Given the description of an element on the screen output the (x, y) to click on. 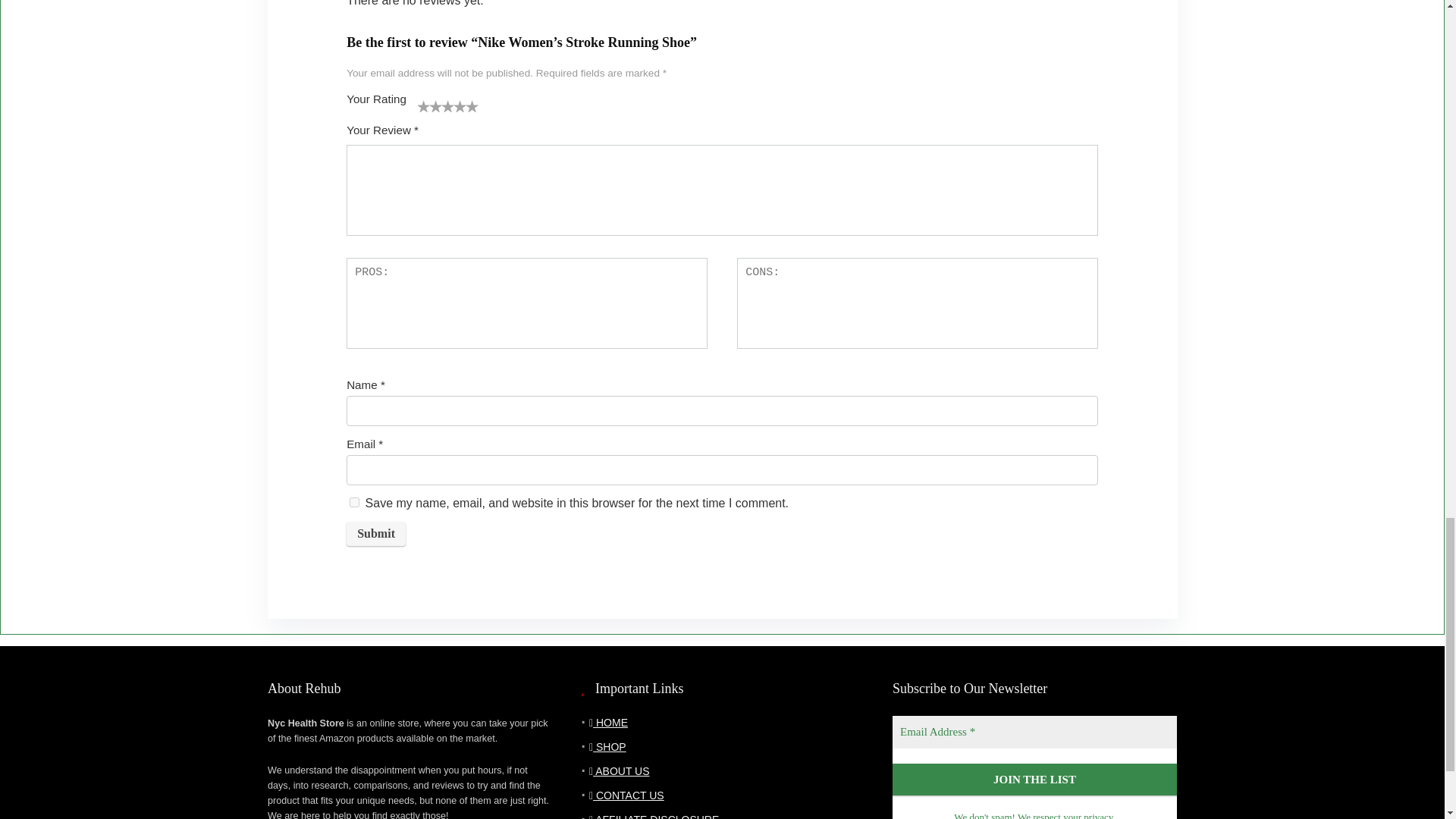
Email Address (1034, 731)
yes (354, 501)
Submit (376, 533)
JOIN THE LIST (1034, 779)
